Given the description of an element on the screen output the (x, y) to click on. 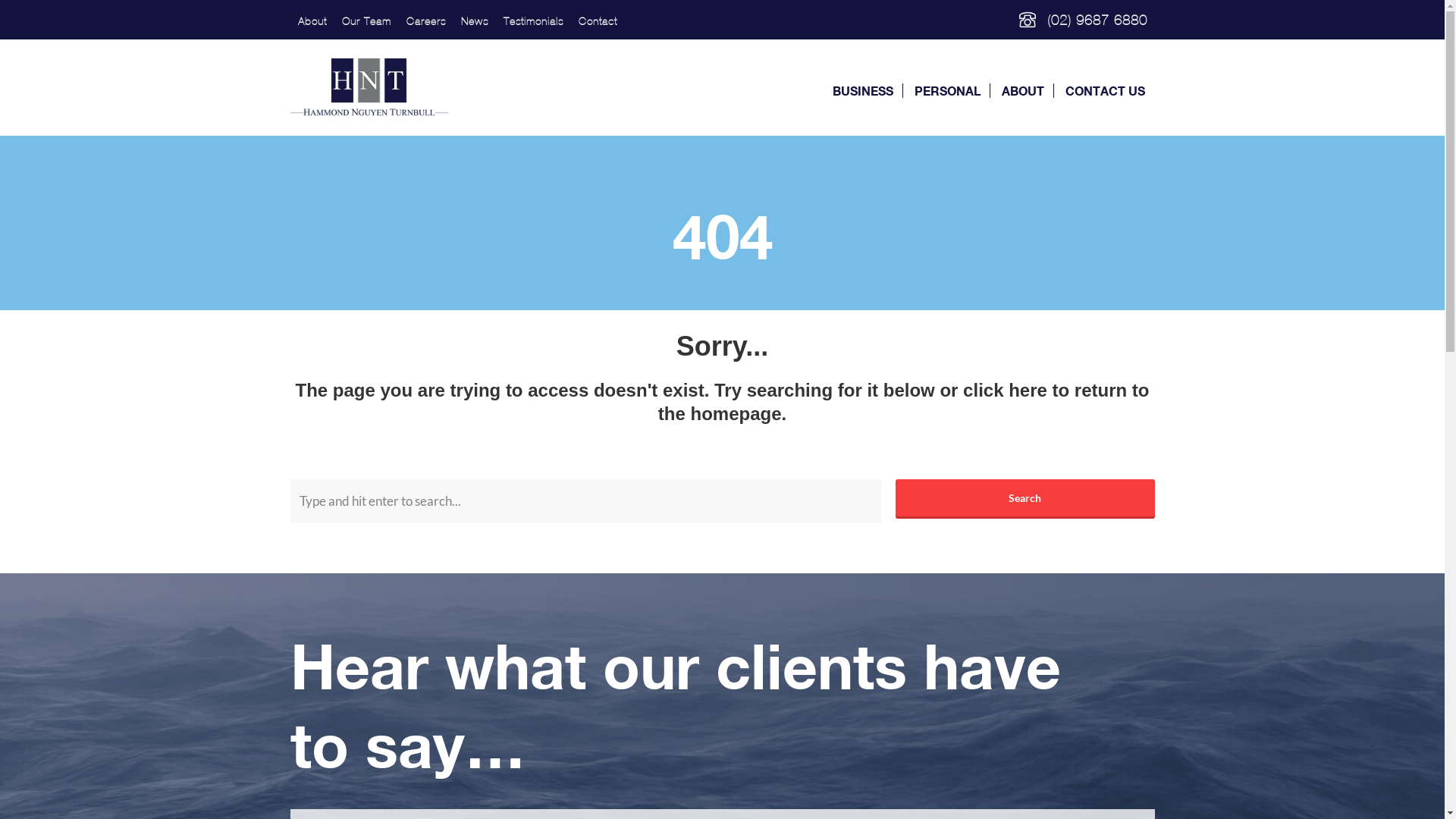
PERSONAL Element type: text (947, 90)
CONTACT US Element type: text (1105, 90)
click here Element type: text (1005, 389)
Contact Element type: text (596, 21)
(02) 9687 6880 Element type: text (1096, 20)
About Element type: text (311, 21)
BUSINESS Element type: text (862, 90)
ABOUT Element type: text (1022, 90)
Our Team Element type: text (365, 21)
News Element type: text (474, 21)
Search Element type: text (1024, 498)
Careers Element type: text (425, 21)
Testimonials Element type: text (533, 21)
